Given the description of an element on the screen output the (x, y) to click on. 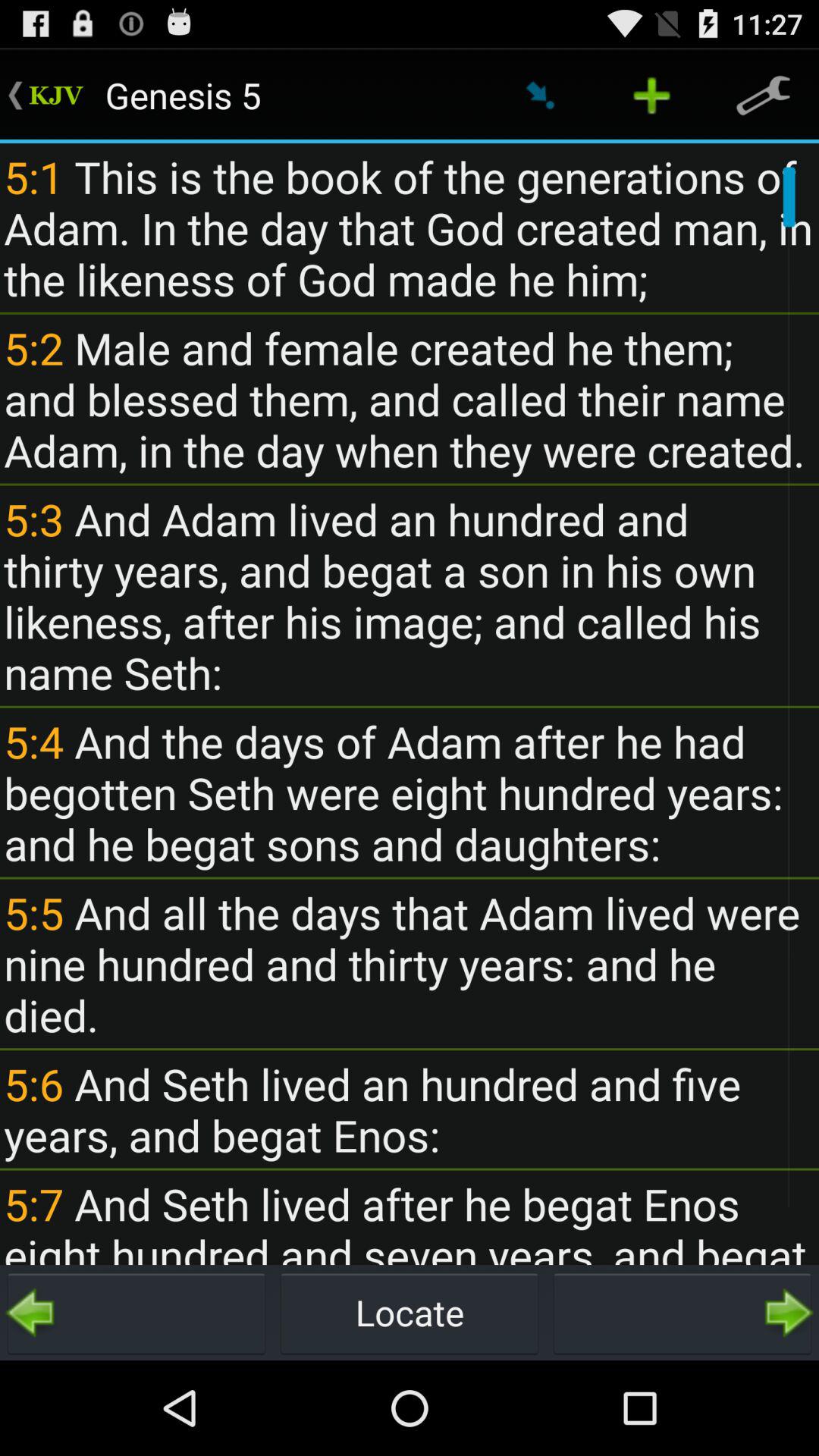
go forward (682, 1312)
